Given the description of an element on the screen output the (x, y) to click on. 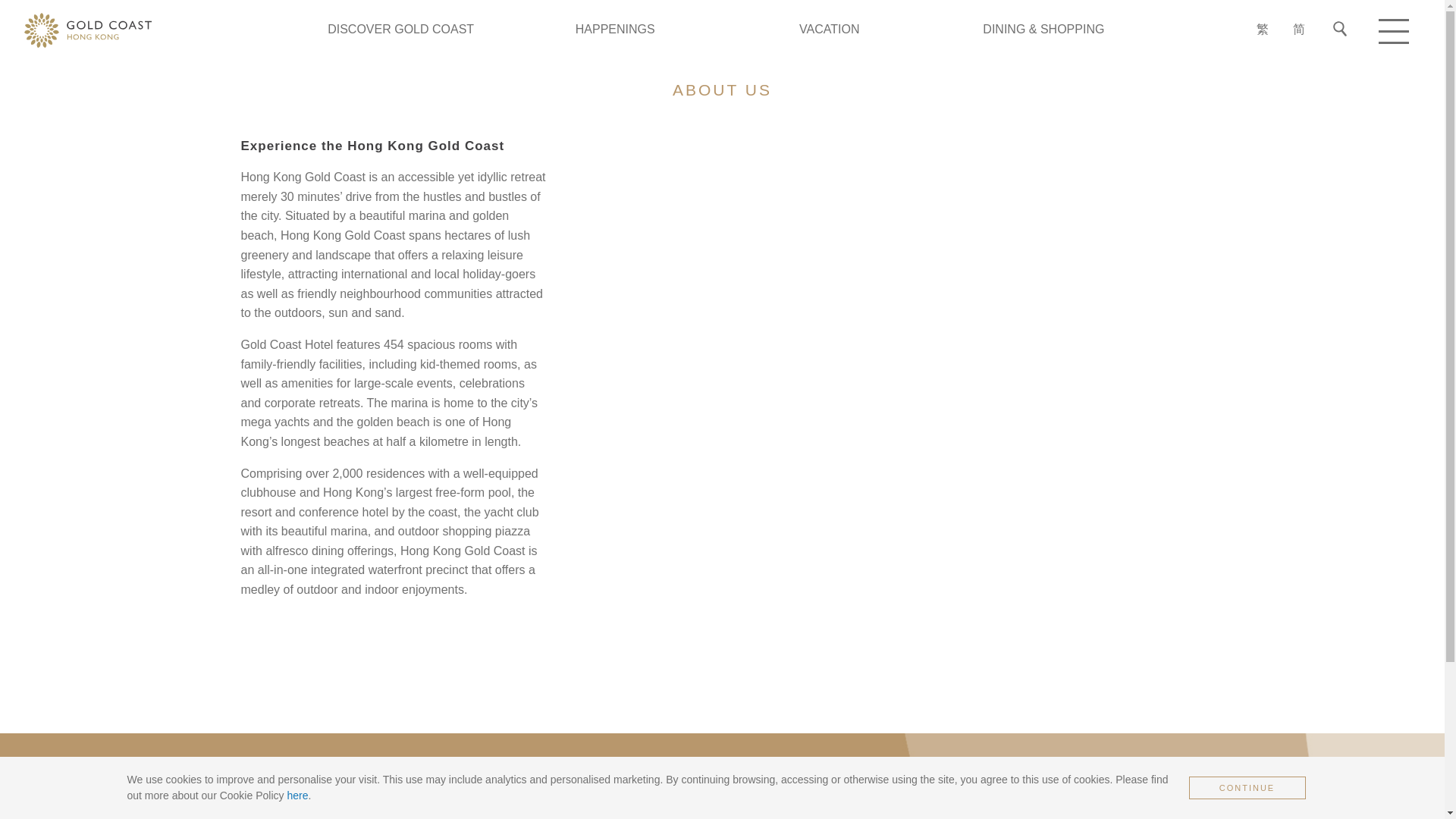
VACATION (829, 29)
HAPPENINGS (615, 29)
DISCOVER GOLD COAST (400, 29)
